Given the description of an element on the screen output the (x, y) to click on. 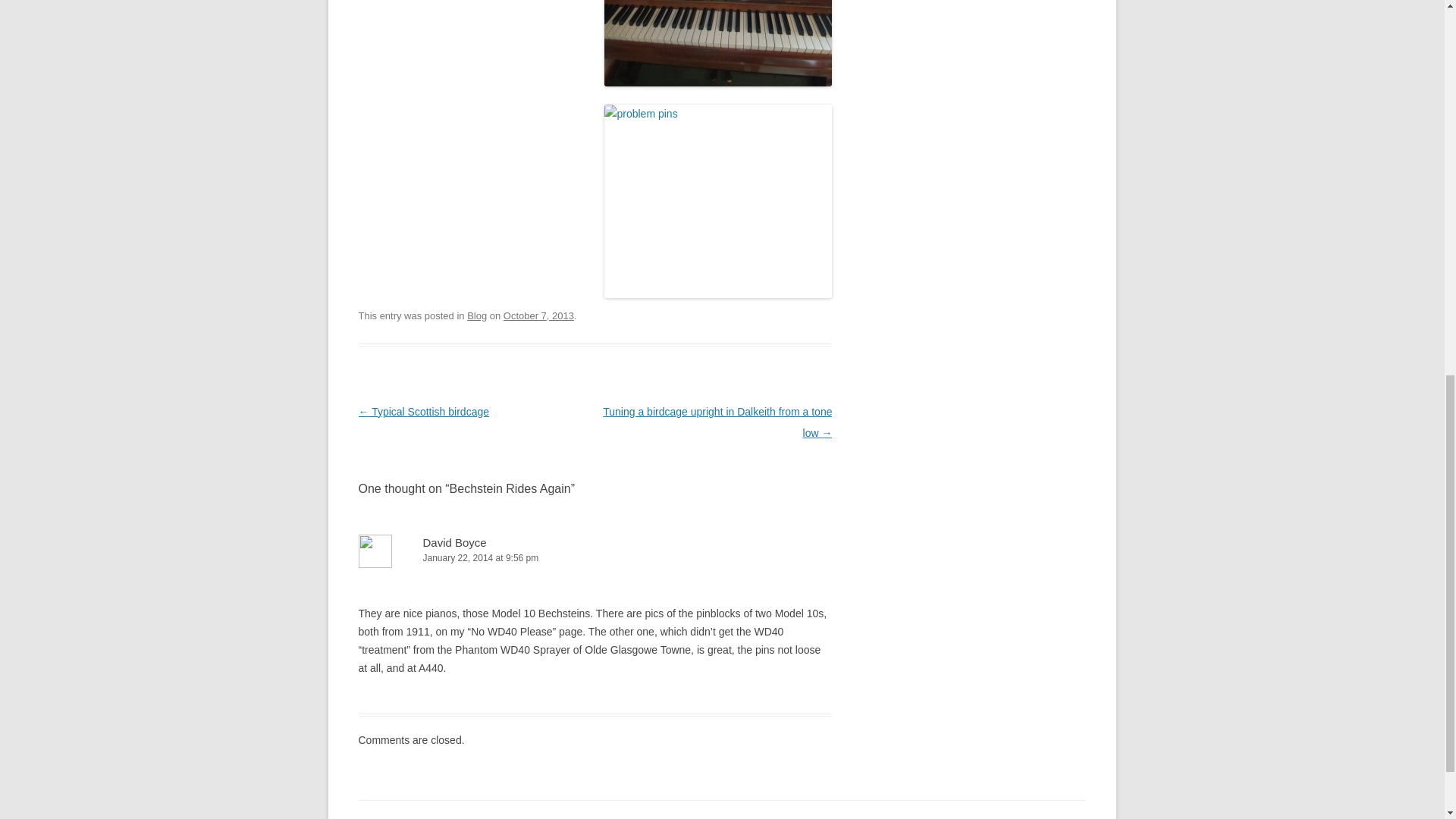
October 7, 2013 (538, 315)
January 22, 2014 at 9:56 pm (594, 558)
11:42 am (538, 315)
Blog (476, 315)
David Boyce (454, 542)
